Given the description of an element on the screen output the (x, y) to click on. 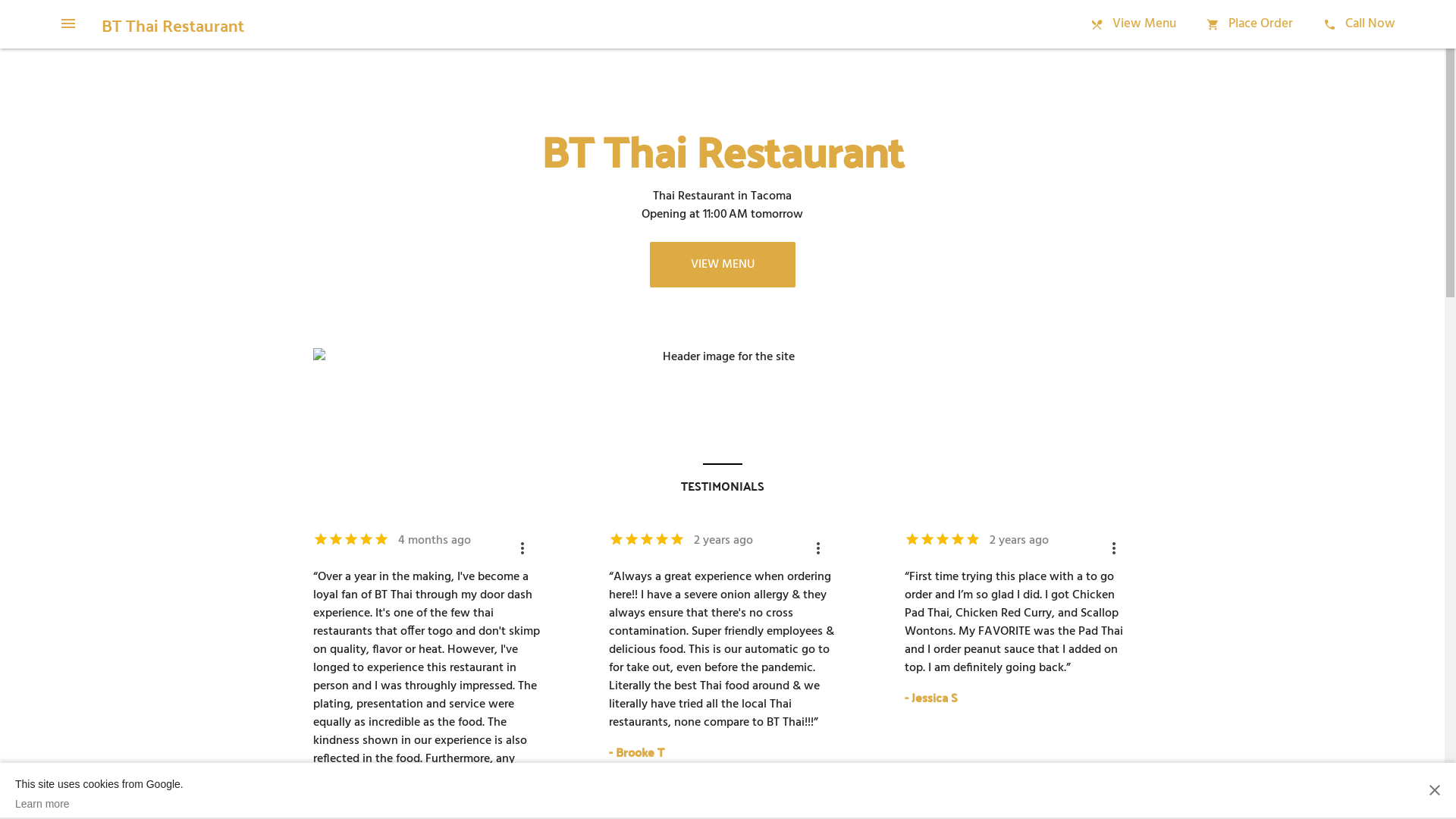
VIEW MENU Element type: text (721, 264)
BT Thai Restaurant Element type: text (172, 24)
Learn more Element type: text (99, 803)
